Given the description of an element on the screen output the (x, y) to click on. 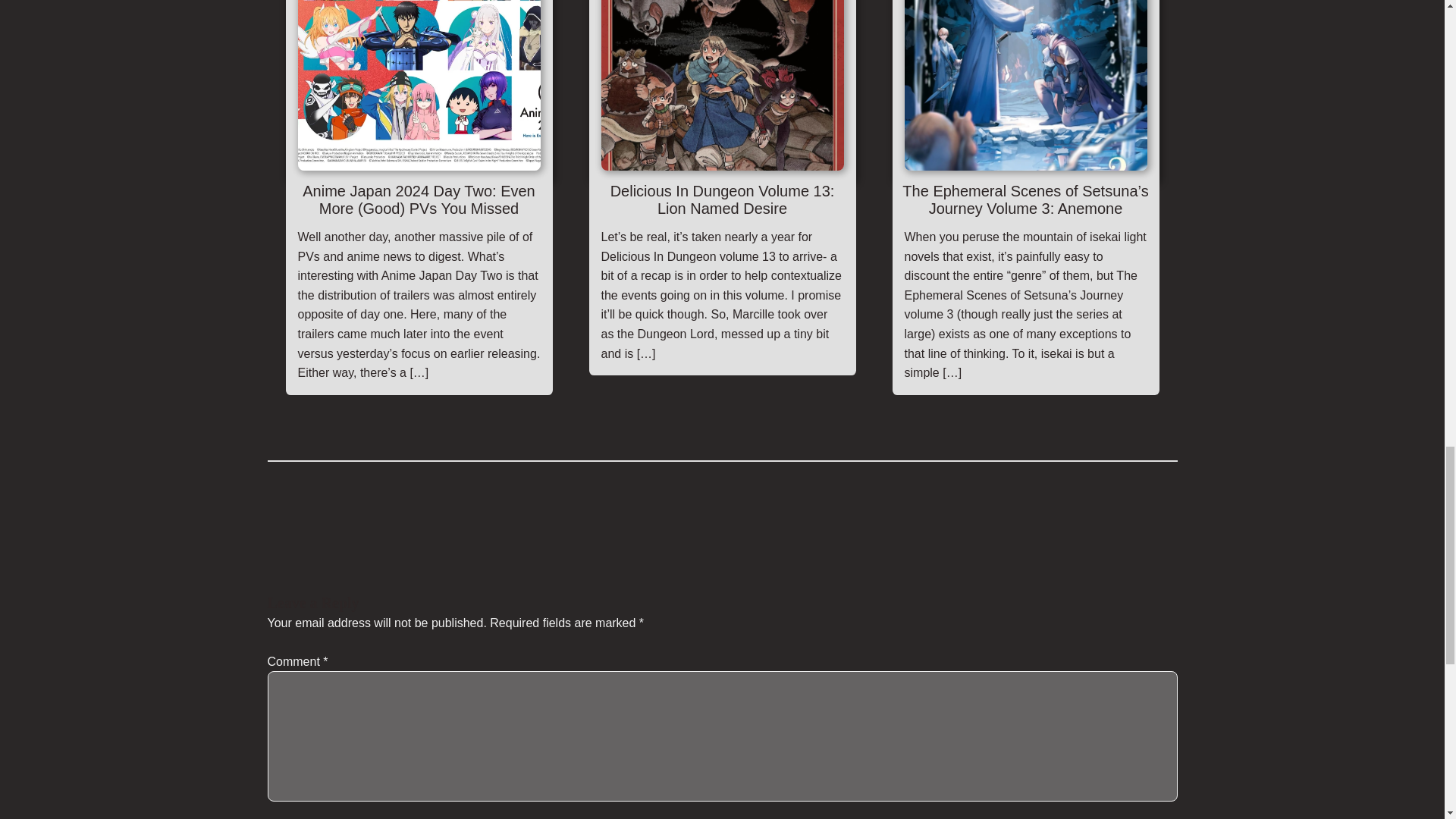
Delicious In Dungeon Volume 13: Lion Named Desire (722, 202)
